Given the description of an element on the screen output the (x, y) to click on. 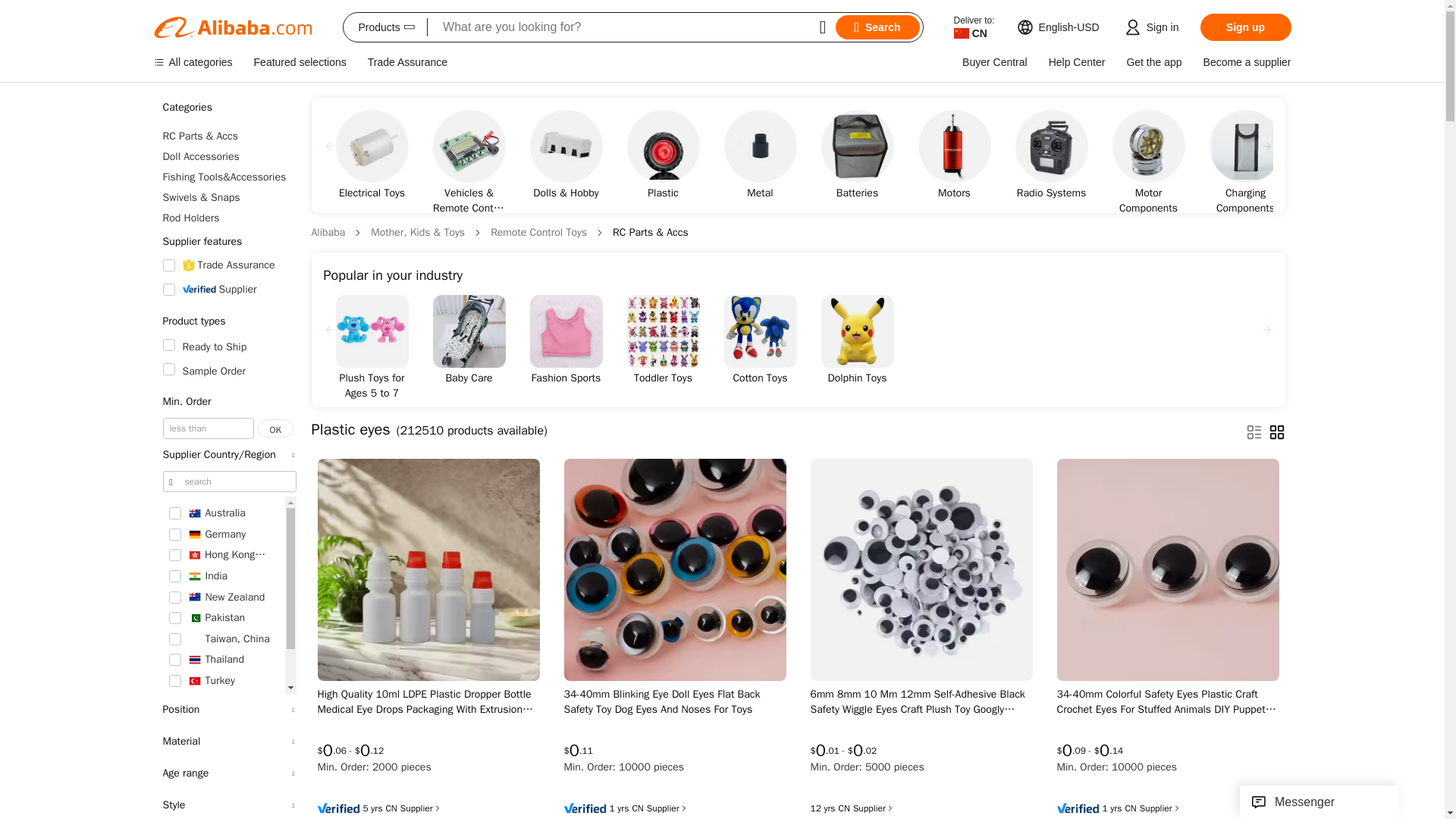
Doll Accessories (228, 156)
Categories (228, 107)
